Given the description of an element on the screen output the (x, y) to click on. 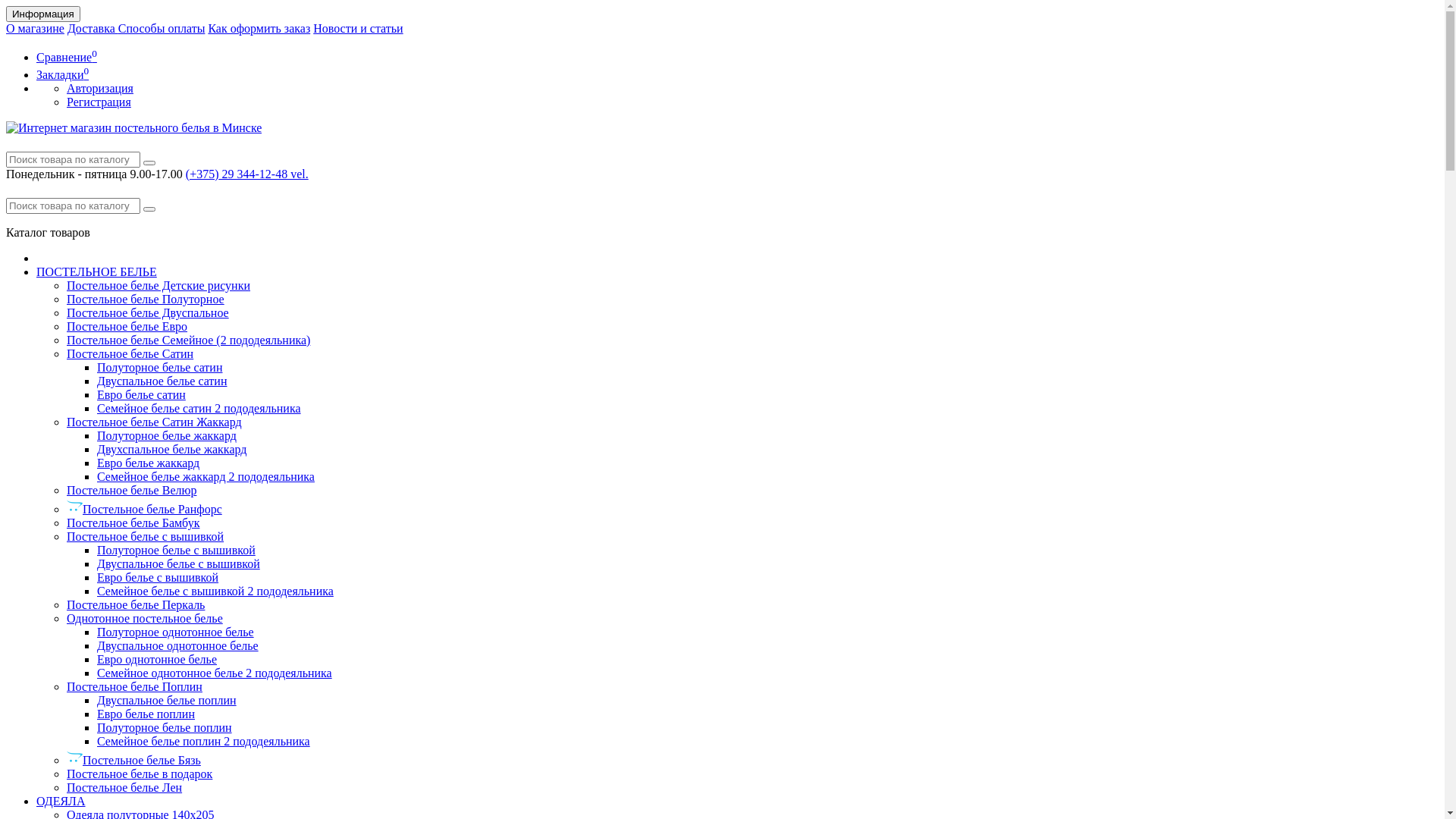
(+375) 29 344-12-48 vel. Element type: text (246, 173)
